Given the description of an element on the screen output the (x, y) to click on. 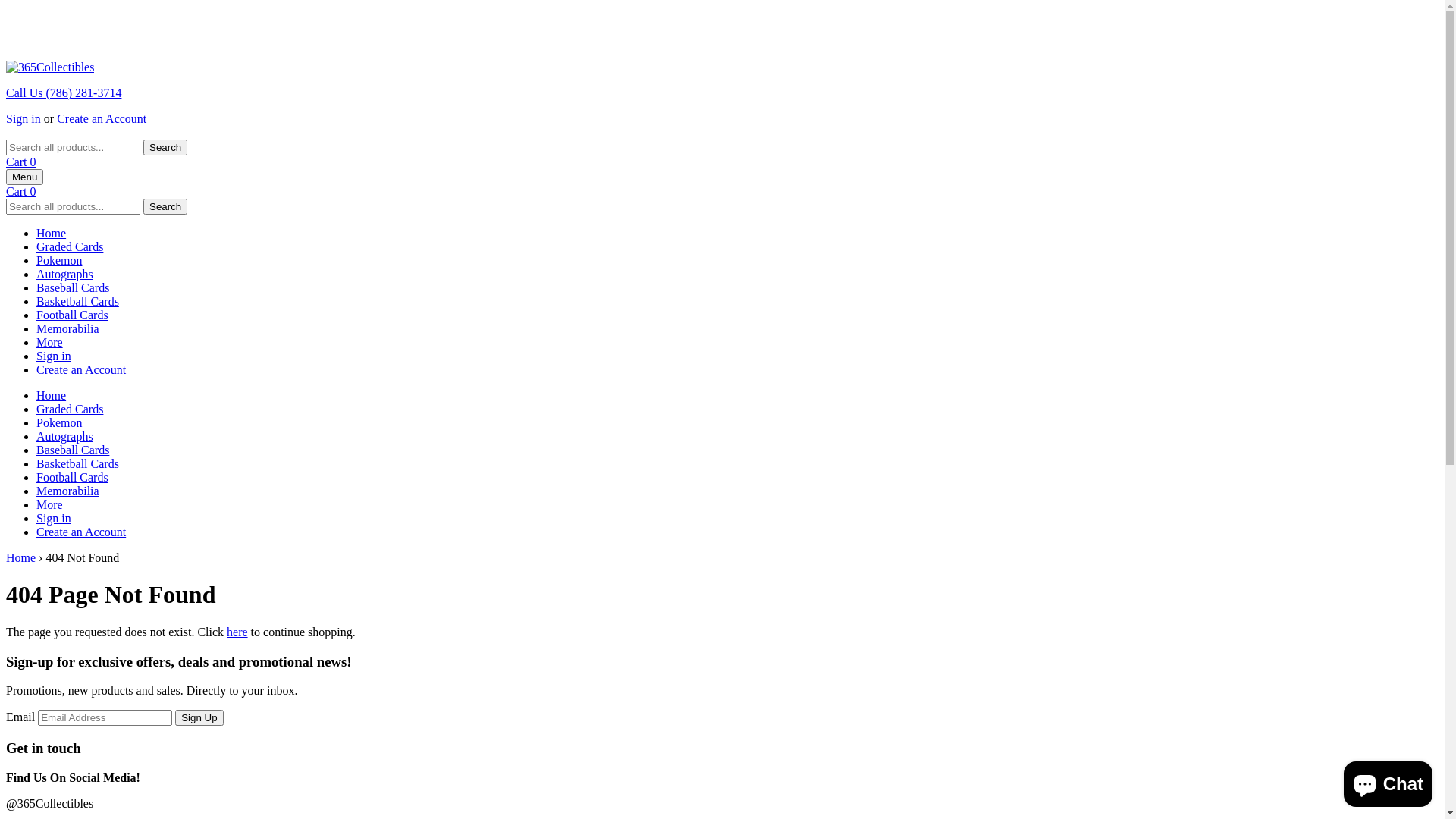
here Element type: text (236, 631)
Graded Cards Element type: text (69, 408)
Memorabilia Element type: text (67, 328)
Call Us (786) 281-3714 Element type: text (722, 105)
Search Element type: text (165, 206)
Sign in Element type: text (23, 118)
Home Element type: text (20, 557)
Autographs Element type: text (64, 273)
Menu Element type: text (24, 177)
Home Element type: text (50, 232)
Basketball Cards Element type: text (77, 300)
Sign in Element type: text (53, 517)
Search Element type: text (165, 147)
Baseball Cards Element type: text (72, 449)
Pokemon Element type: text (58, 260)
Shopify online store chat Element type: hover (1388, 780)
Autographs Element type: text (64, 435)
Football Cards Element type: text (72, 476)
Memorabilia Element type: text (67, 490)
Basketball Cards Element type: text (77, 463)
Sign Up Element type: text (198, 717)
Home Element type: text (50, 395)
Graded Cards Element type: text (69, 246)
Create an Account Element type: text (101, 118)
Cart 0 Element type: text (21, 191)
More Element type: text (49, 504)
Baseball Cards Element type: text (72, 287)
Create an Account Element type: text (80, 531)
Sign in Element type: text (53, 355)
More Element type: text (49, 341)
Pokemon Element type: text (58, 422)
Create an Account Element type: text (80, 369)
Football Cards Element type: text (72, 314)
Cart 0 Element type: text (21, 161)
